Given the description of an element on the screen output the (x, y) to click on. 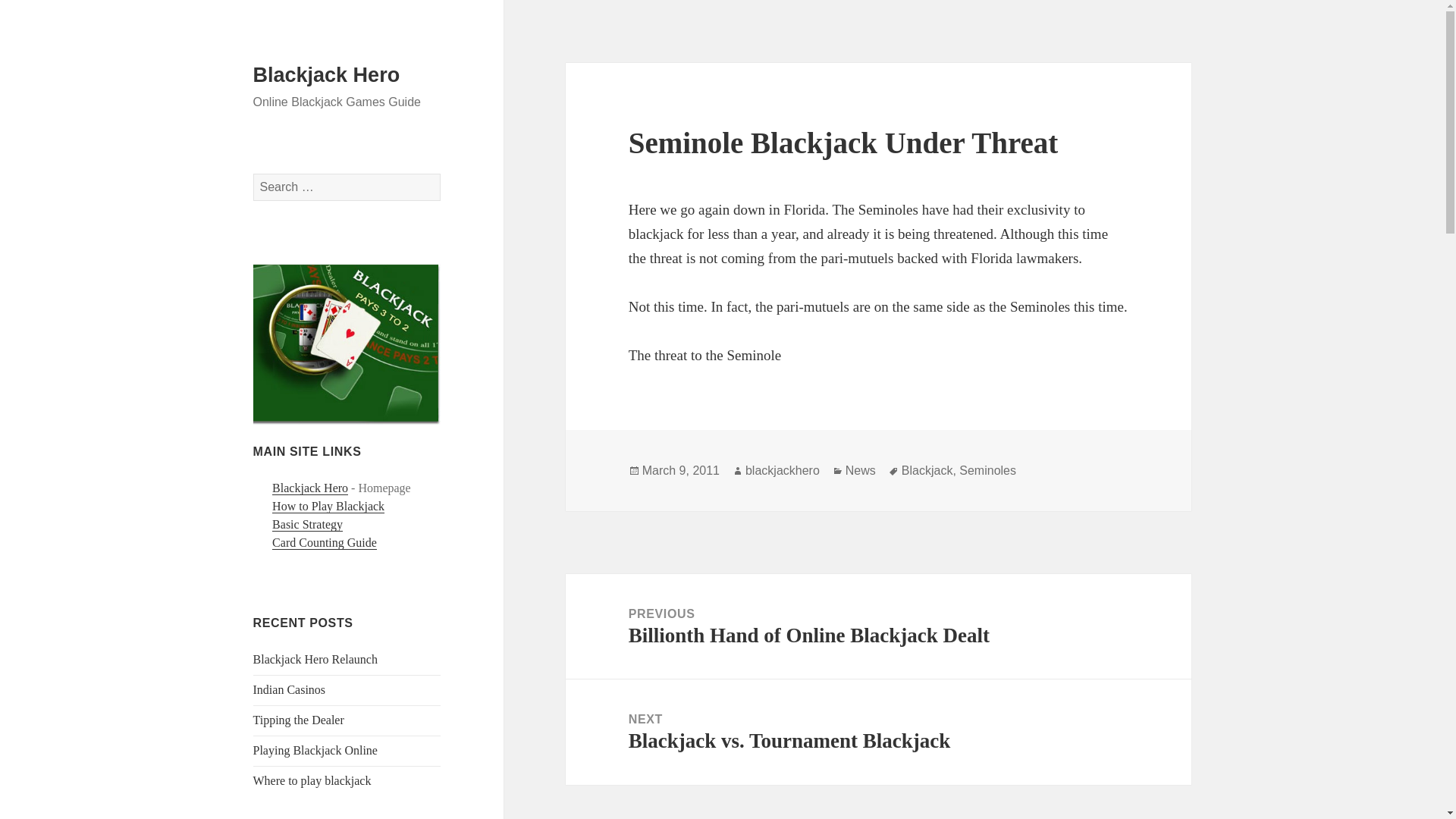
Blackjack Hero Relaunch (315, 658)
Where to play blackjack (312, 780)
How to Play Blackjack (328, 506)
Blackjack Hero (326, 74)
Basic Strategy (307, 524)
Card Counting Guide (324, 542)
Tipping the Dealer (298, 719)
Indian Casinos (289, 689)
Playing Blackjack Online (315, 749)
Blackjack Hero (309, 488)
